Given the description of an element on the screen output the (x, y) to click on. 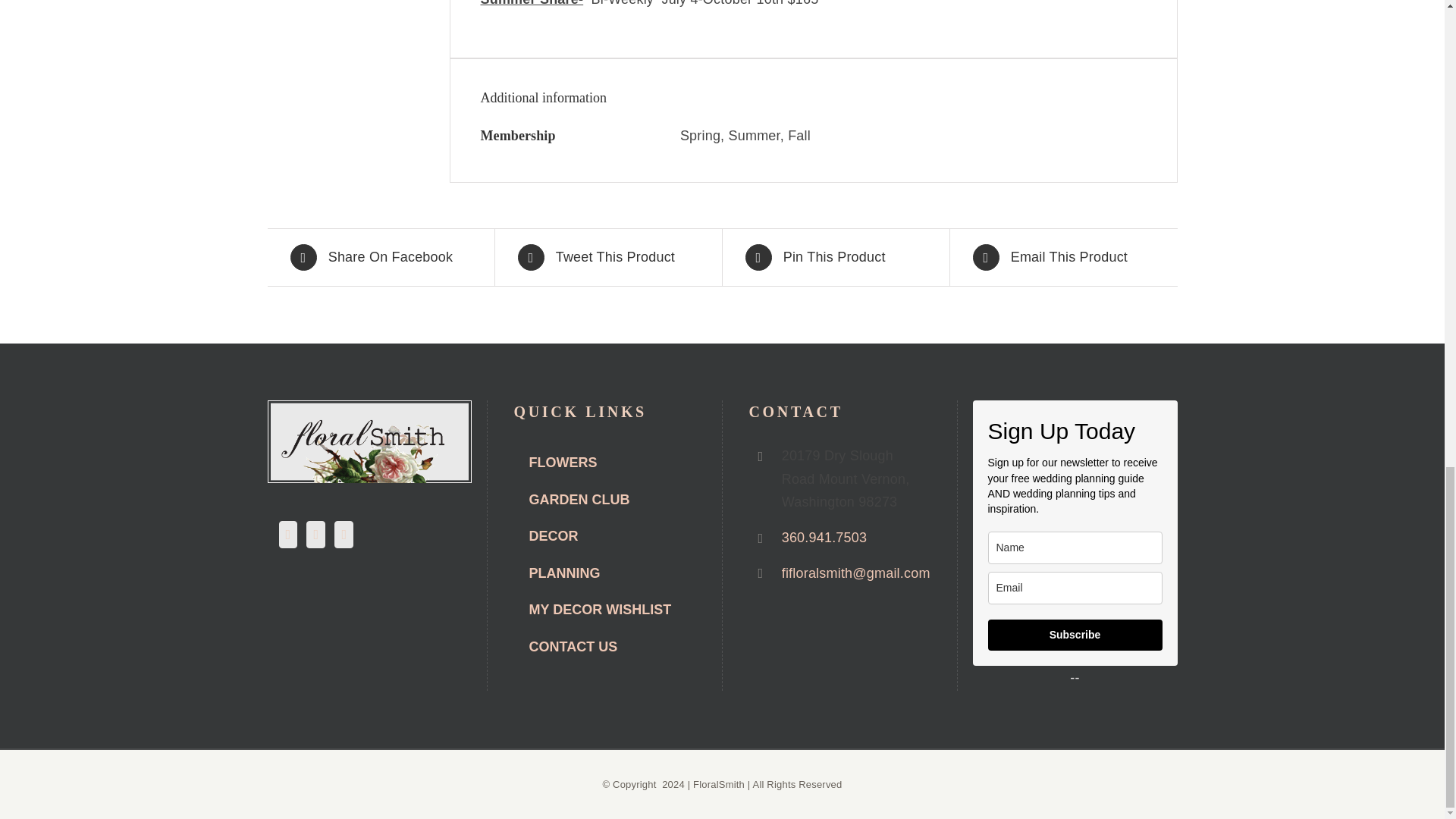
Pin This Product (835, 257)
FLOWERS (603, 463)
Tweet This Product (607, 257)
Email This Product (1063, 257)
Share On Facebook (379, 257)
